Given the description of an element on the screen output the (x, y) to click on. 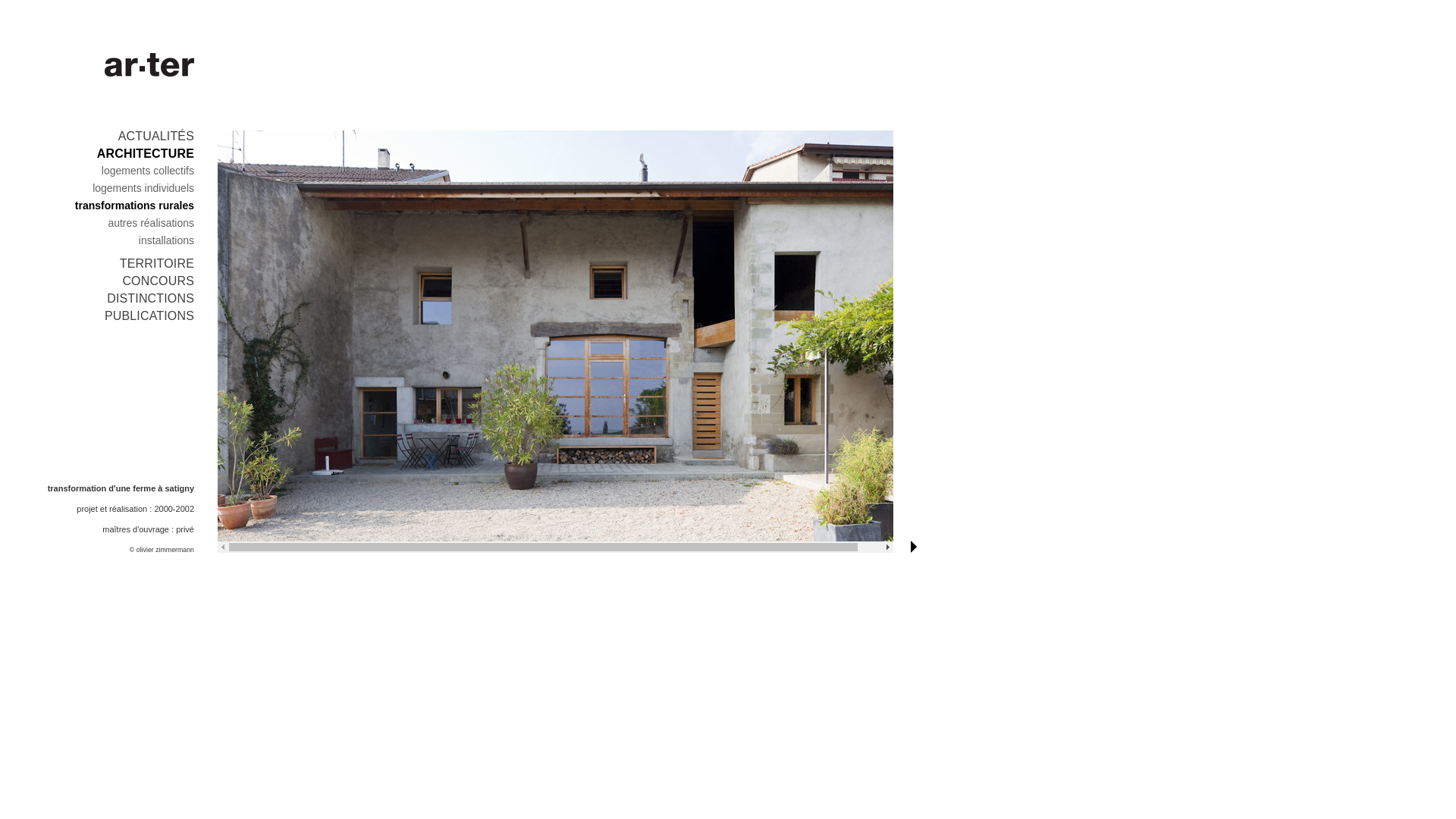
logements individuels Element type: text (143, 188)
CONCOURS Element type: text (158, 280)
installations Element type: text (166, 240)
ARCHITECTURE Element type: text (145, 153)
PUBLICATIONS Element type: text (149, 315)
logements collectifs Element type: text (147, 170)
TERRITOIRE Element type: text (156, 263)
transformations rurales Element type: text (134, 205)
DISTINCTIONS Element type: text (150, 297)
AR-TER Accueil Element type: hover (149, 64)
Suivant Element type: hover (913, 546)
